Given the description of an element on the screen output the (x, y) to click on. 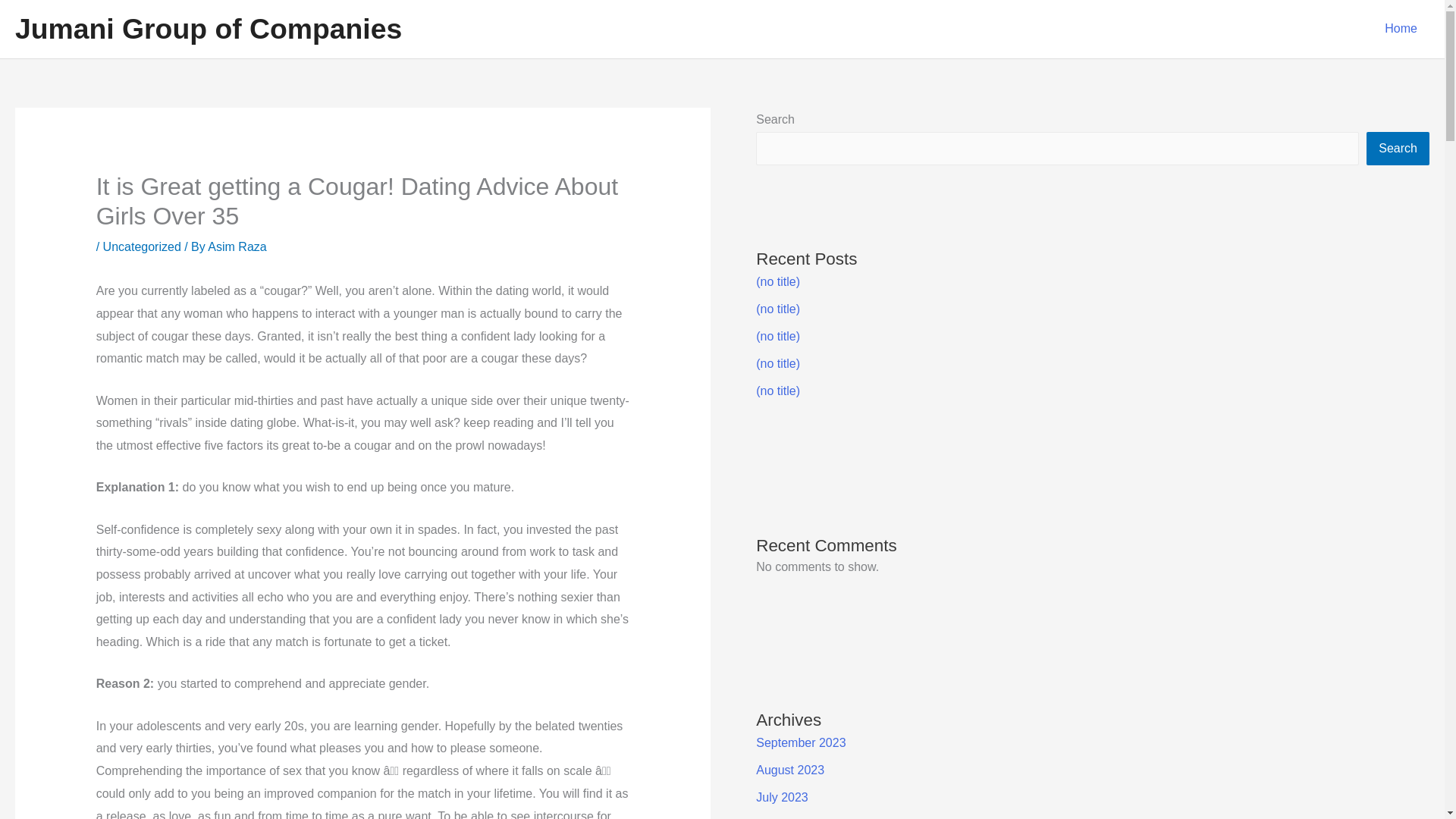
September 2023 (800, 742)
August 2023 (789, 769)
July 2023 (781, 797)
Jumani Group of Companies (207, 29)
Asim Raza (237, 246)
View all posts by Asim Raza (237, 246)
Search (1398, 148)
Home (1401, 28)
Uncategorized (141, 246)
May 2023 (782, 818)
